Given the description of an element on the screen output the (x, y) to click on. 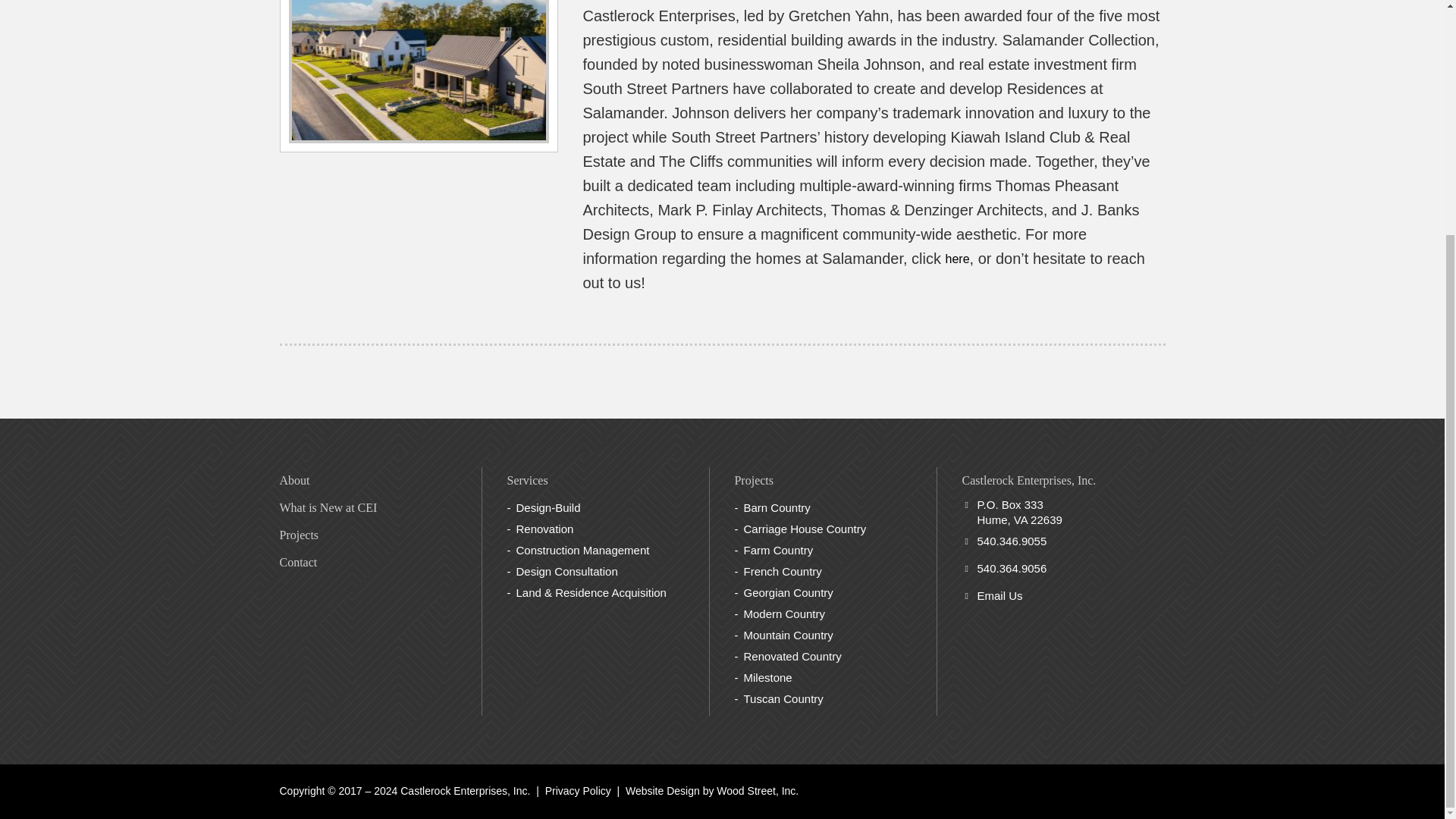
Carriage House Country (804, 528)
Website Design (663, 790)
About (293, 480)
Renovated Country (791, 656)
Design Consultation (566, 571)
540.346.9055 (1011, 540)
Services (526, 480)
Email Us (999, 594)
Barn Country (775, 507)
here (956, 258)
